Given the description of an element on the screen output the (x, y) to click on. 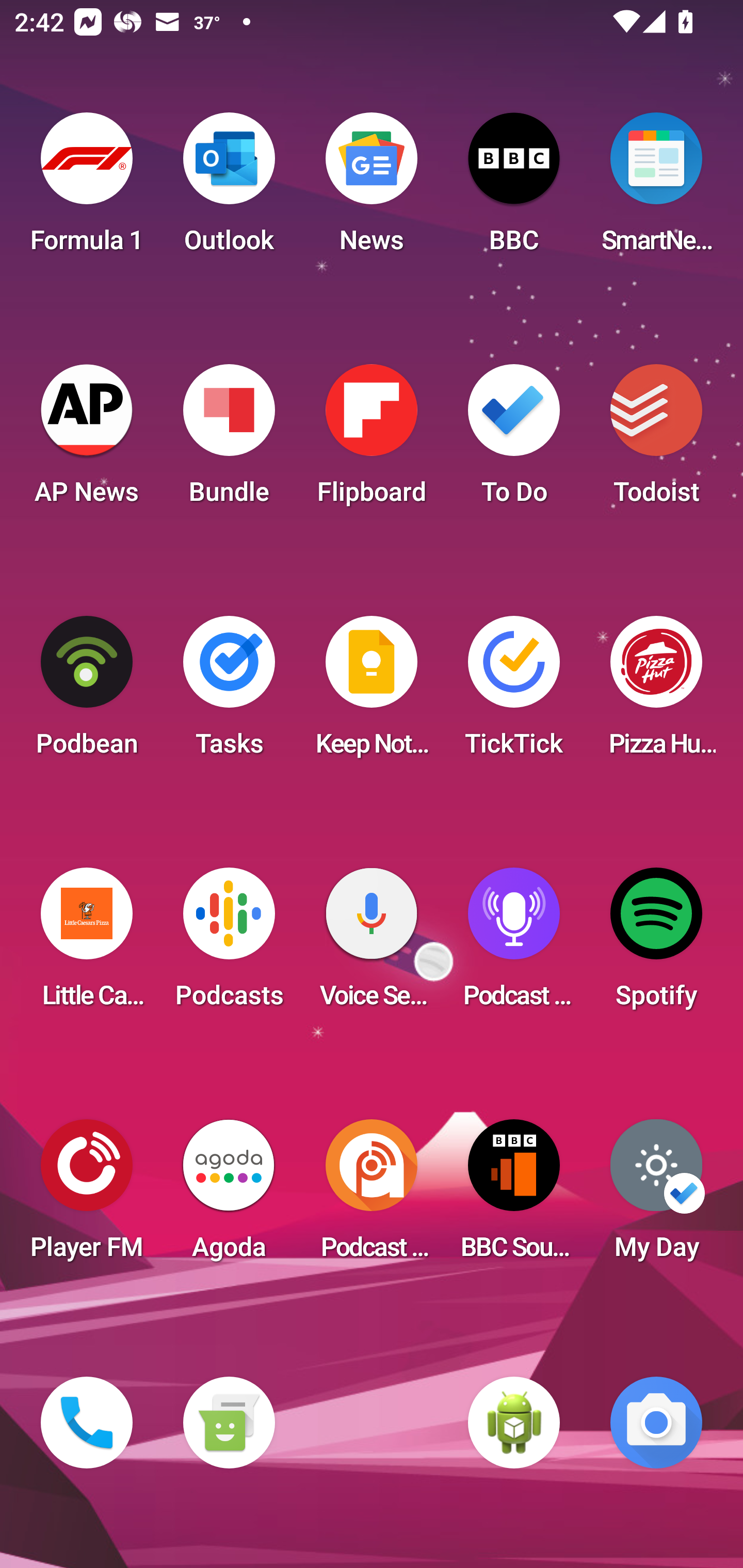
Formula 1 (86, 188)
Outlook (228, 188)
News (371, 188)
BBC (513, 188)
SmartNews (656, 188)
AP News (86, 440)
Bundle (228, 440)
Flipboard (371, 440)
To Do (513, 440)
Todoist (656, 440)
Podbean (86, 692)
Tasks (228, 692)
Keep Notes (371, 692)
TickTick (513, 692)
Pizza Hut HK & Macau (656, 692)
Little Caesars Pizza (86, 943)
Podcasts (228, 943)
Voice Search (371, 943)
Podcast Player (513, 943)
Spotify (656, 943)
Player FM (86, 1195)
Agoda (228, 1195)
Podcast Addict (371, 1195)
BBC Sounds (513, 1195)
My Day (656, 1195)
Phone (86, 1422)
Messaging (228, 1422)
WebView Browser Tester (513, 1422)
Camera (656, 1422)
